Given the description of an element on the screen output the (x, y) to click on. 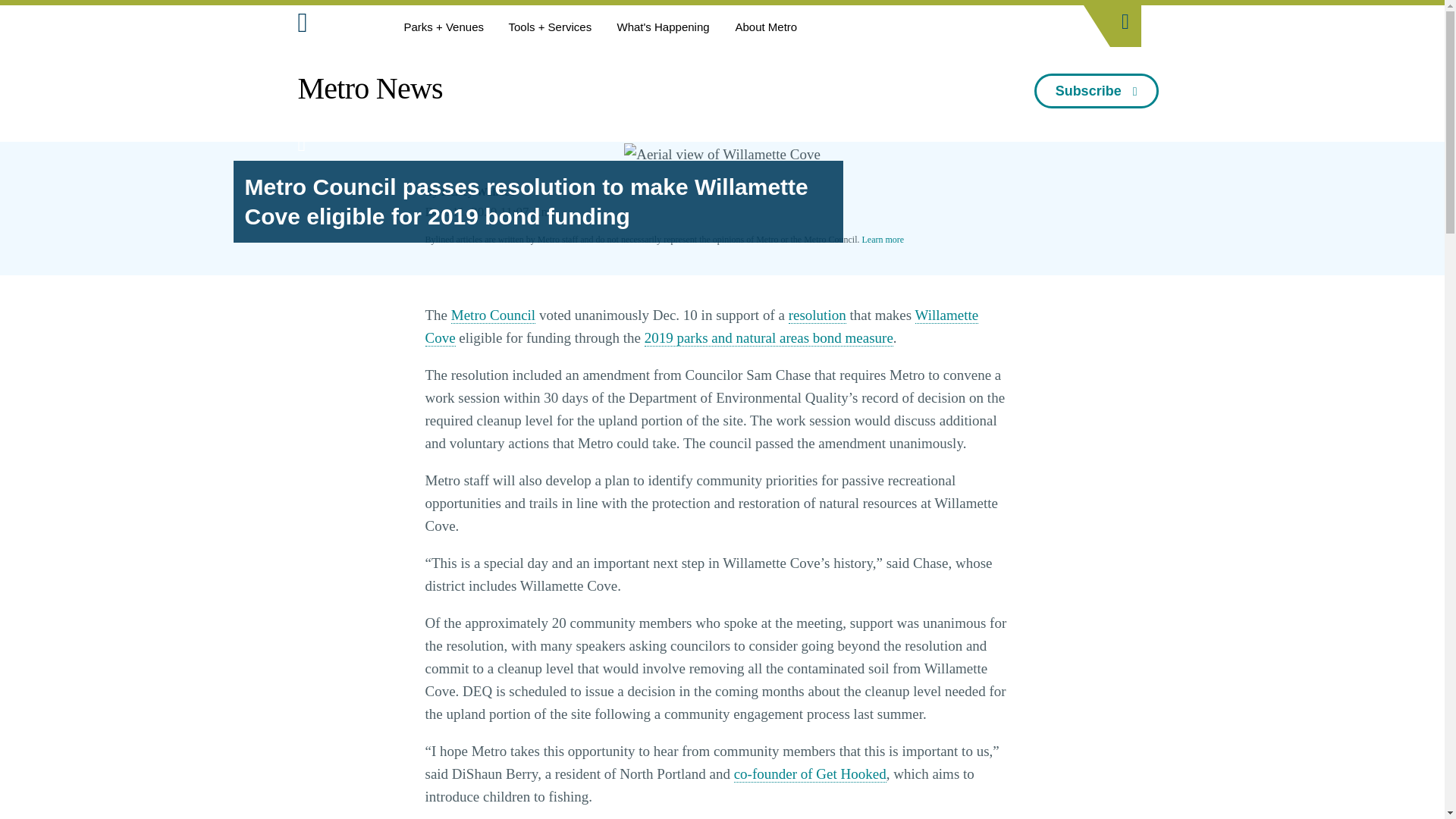
Search the entire site (1125, 16)
Metro (335, 25)
